Given the description of an element on the screen output the (x, y) to click on. 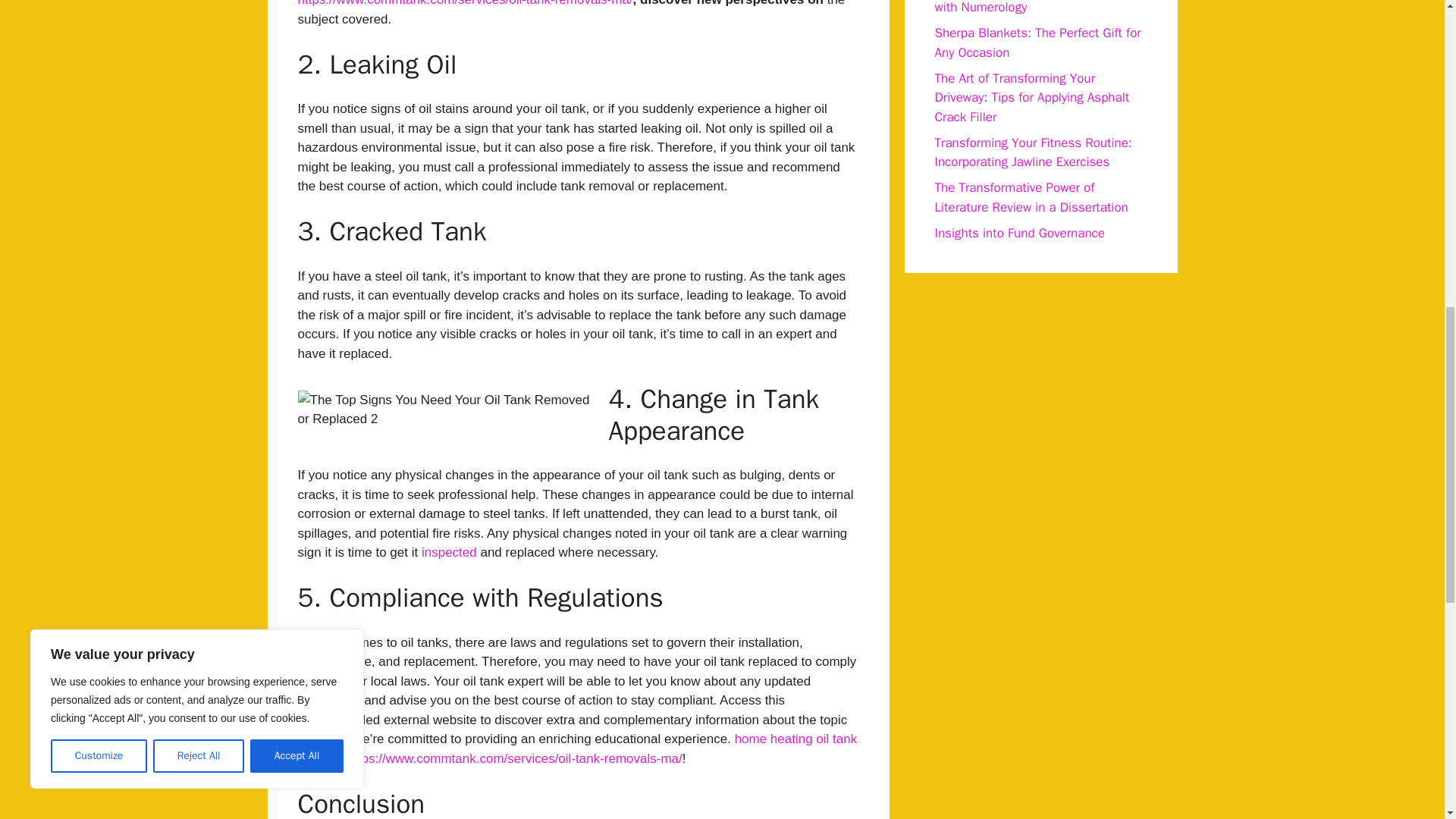
inspected (449, 552)
